Given the description of an element on the screen output the (x, y) to click on. 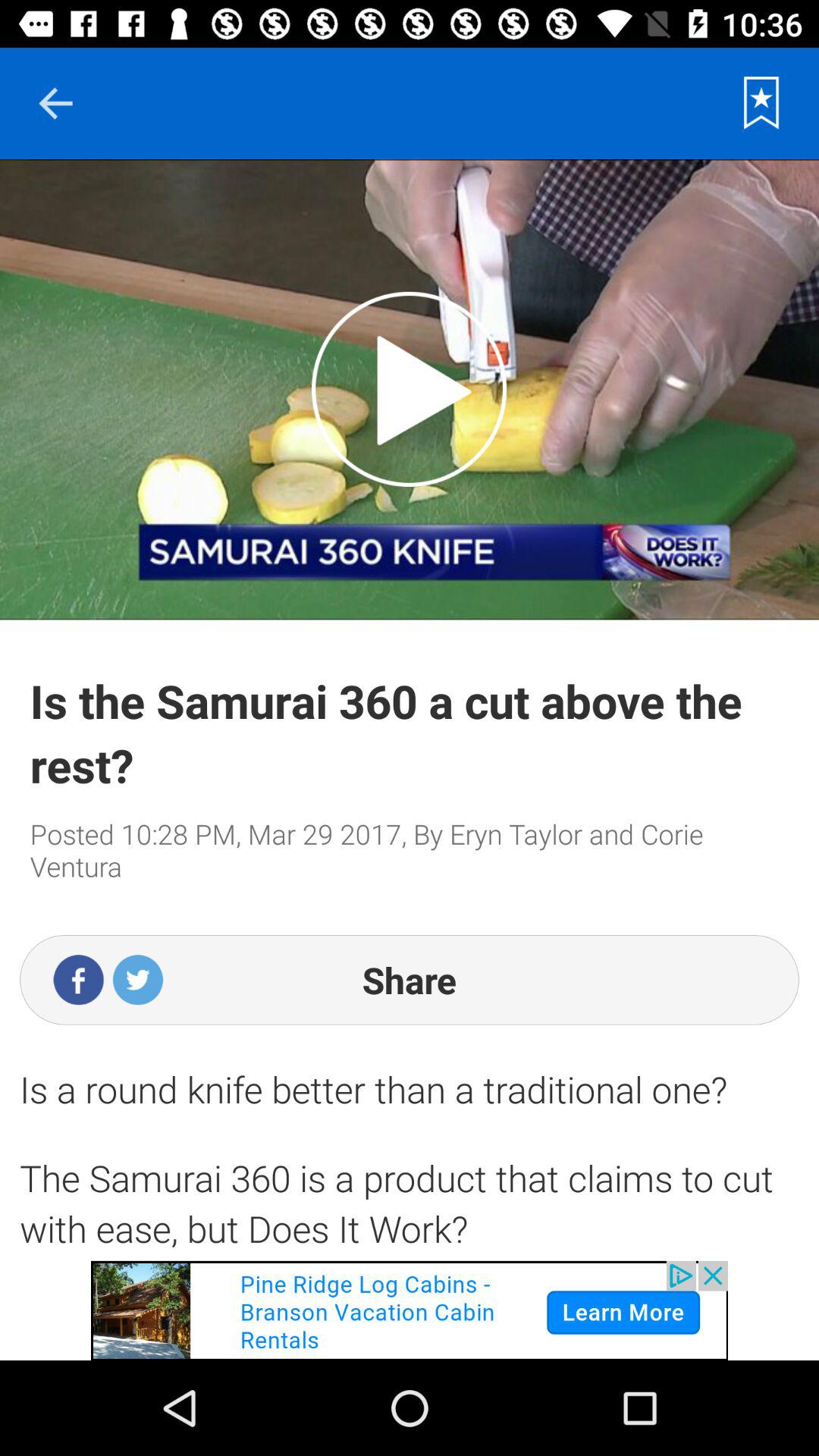
an (408, 388)
